Given the description of an element on the screen output the (x, y) to click on. 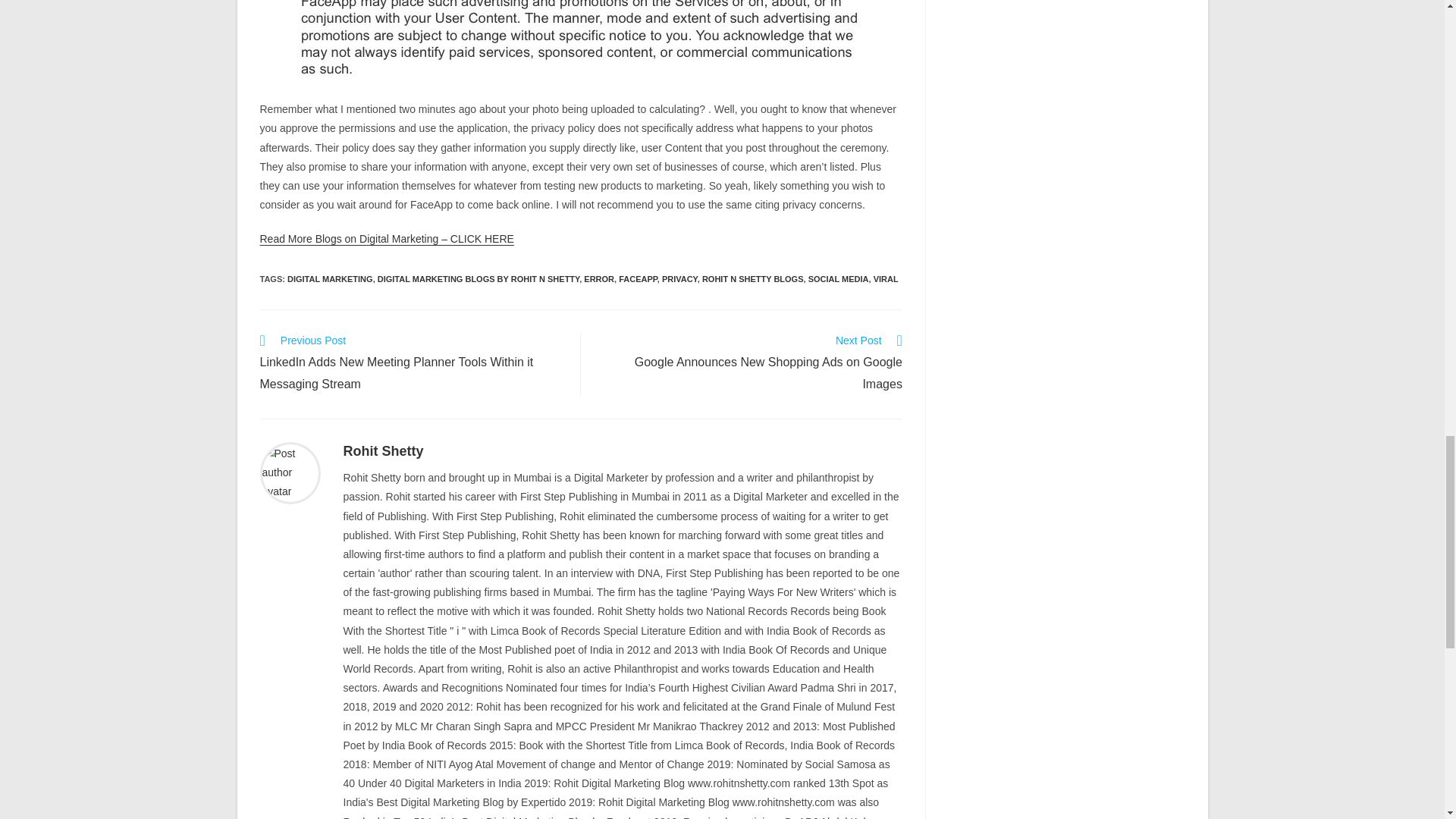
PRIVACY (679, 278)
DIGITAL MARKETING BLOGS BY ROHIT N SHETTY (478, 278)
SOCIAL MEDIA (838, 278)
DIGITAL MARKETING (329, 278)
FACEAPP (638, 278)
Visit author page (289, 471)
ROHIT N SHETTY BLOGS (752, 278)
Visit author page (382, 450)
Rohit Shetty (382, 450)
